Given the description of an element on the screen output the (x, y) to click on. 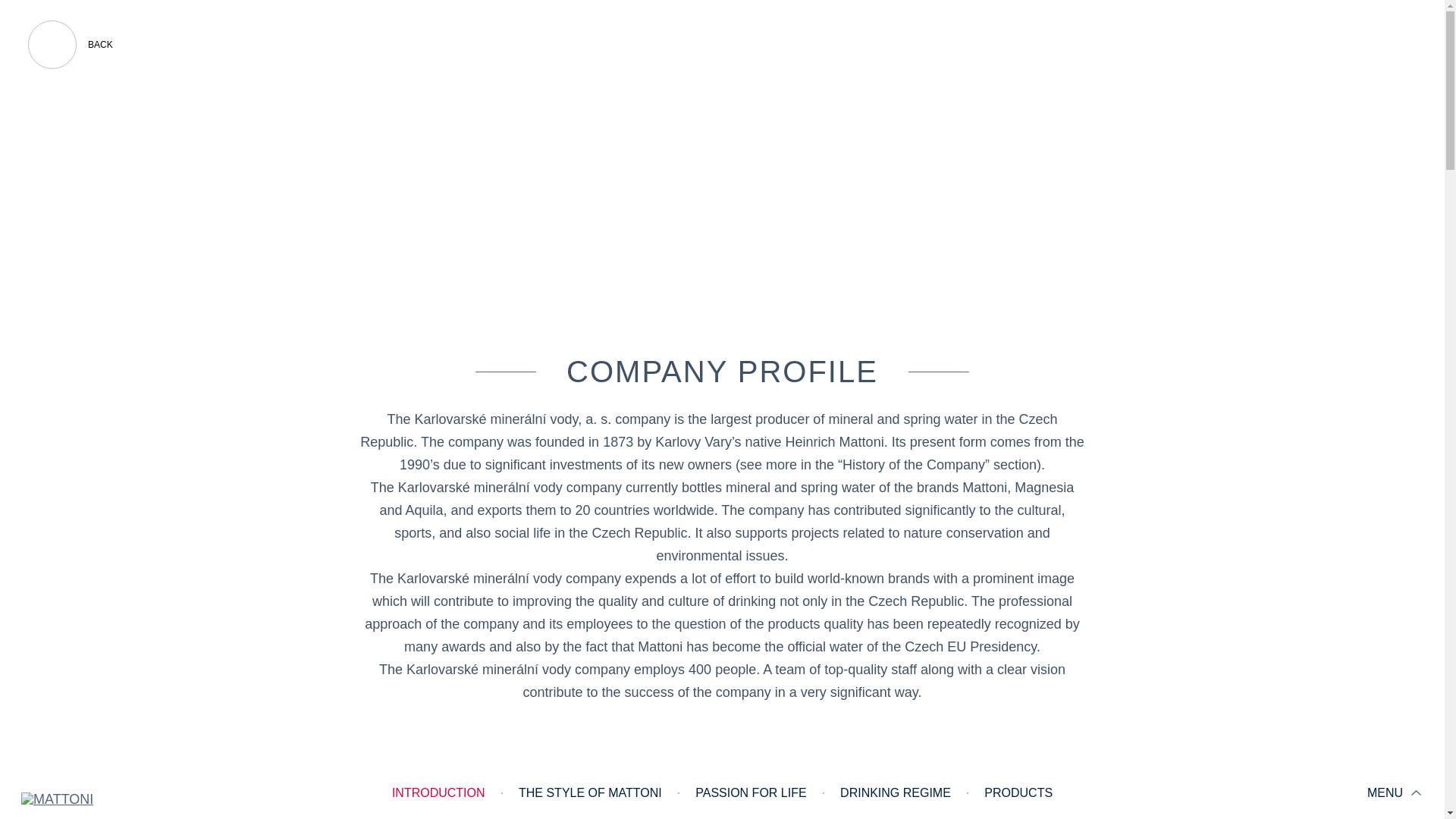
DRINKING REGIME Element type: text (895, 792)
INTRODUCTION Element type: text (438, 792)
PASSION FOR LIFE Element type: text (750, 792)
MENU Element type: text (1394, 792)
BACK Element type: text (70, 44)
PRODUCTS Element type: text (1018, 792)
THE STYLE OF MATTONI Element type: text (590, 792)
